Given the description of an element on the screen output the (x, y) to click on. 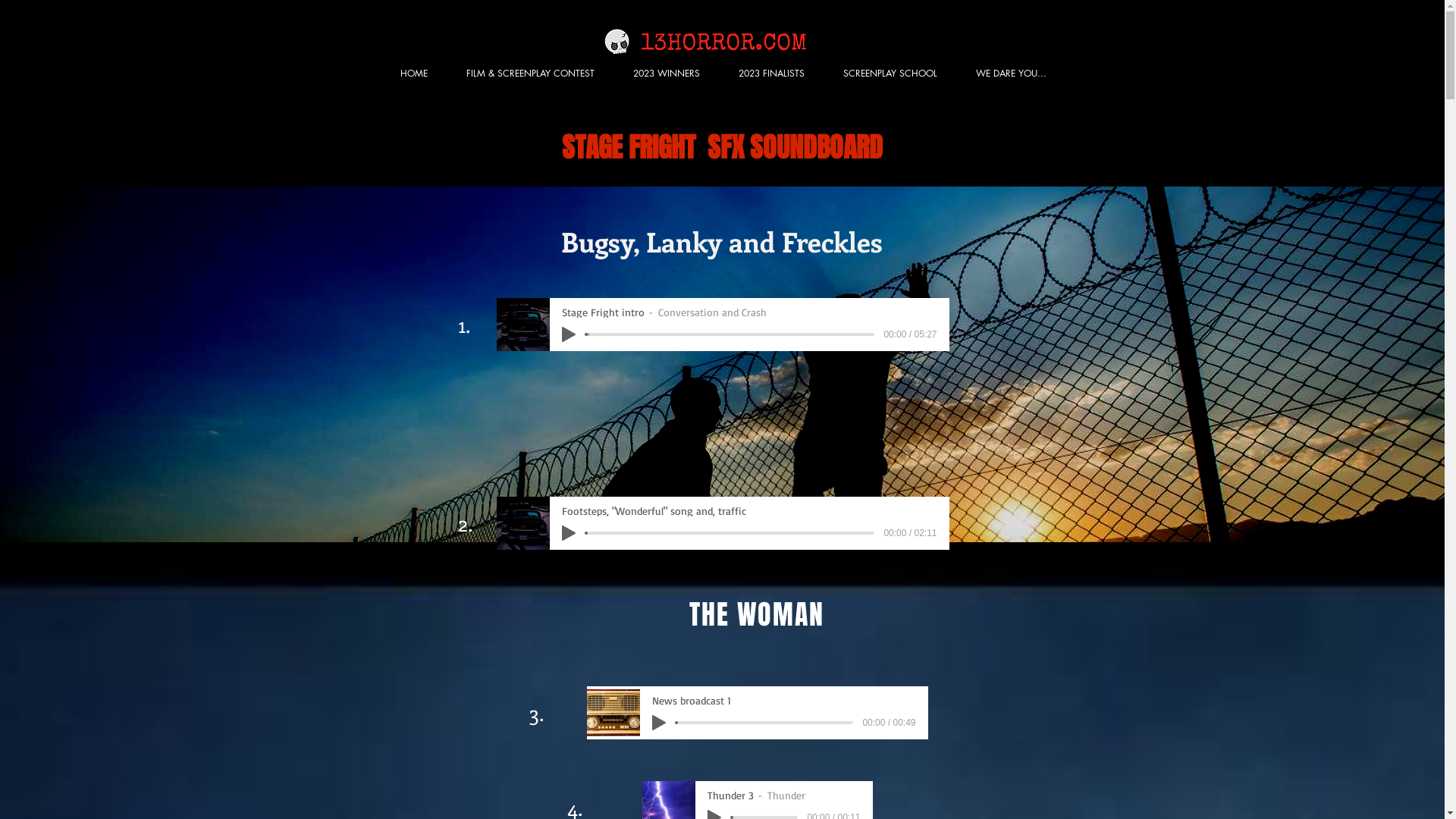
HOME Element type: text (413, 73)
FILM & SCREENPLAY CONTEST Element type: text (530, 73)
2023 FINALISTS Element type: text (770, 73)
SCREENPLAY SCHOOL Element type: text (889, 73)
2023 WINNERS Element type: text (666, 73)
WE DARE YOU... Element type: text (1011, 73)
